Given the description of an element on the screen output the (x, y) to click on. 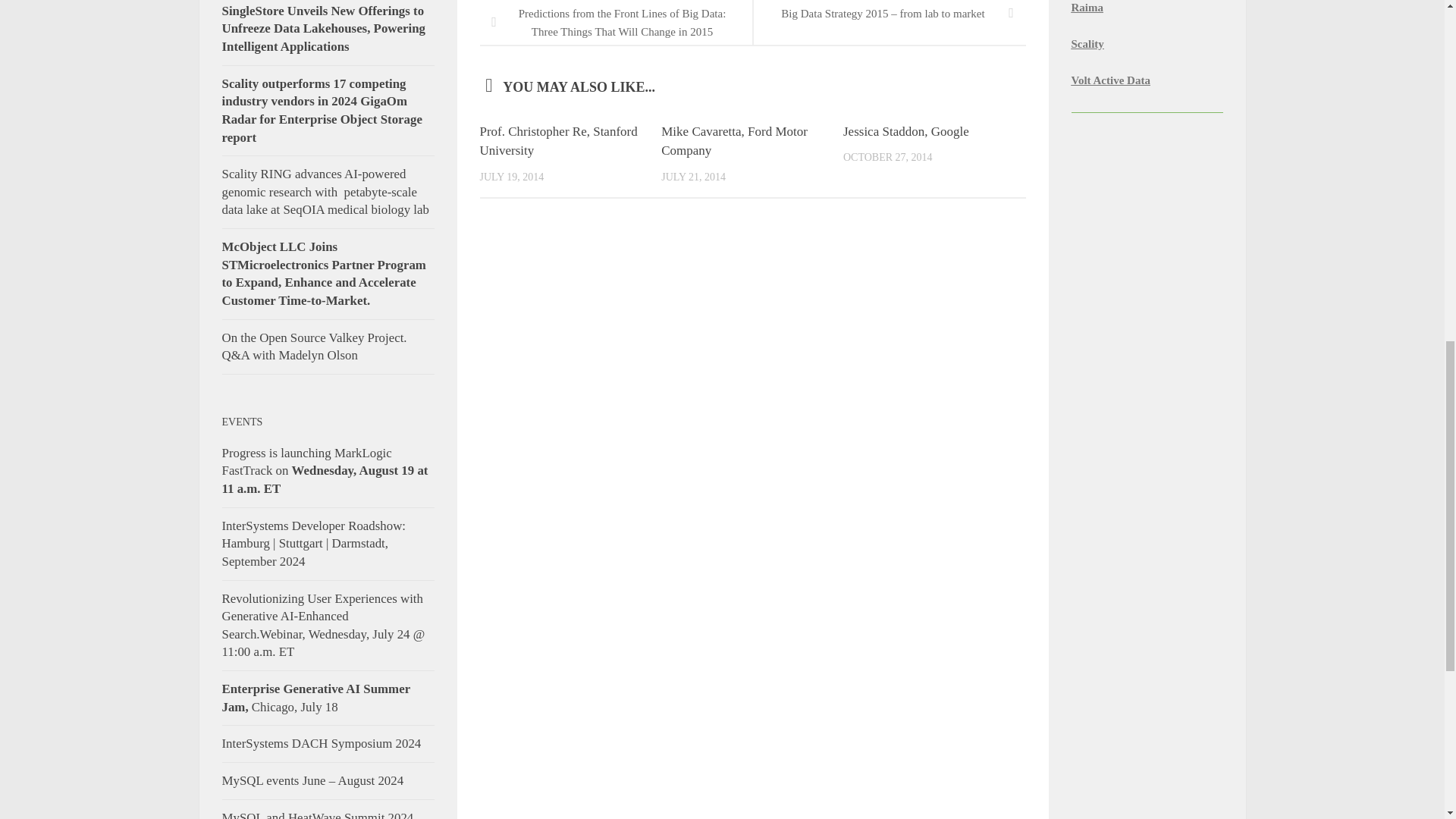
Permalink to Prof. Christopher Re, Stanford University (558, 141)
Permalink to Jessica Staddon, Google (906, 131)
Permalink to Mike Cavaretta, Ford Motor Company (734, 141)
